Given the description of an element on the screen output the (x, y) to click on. 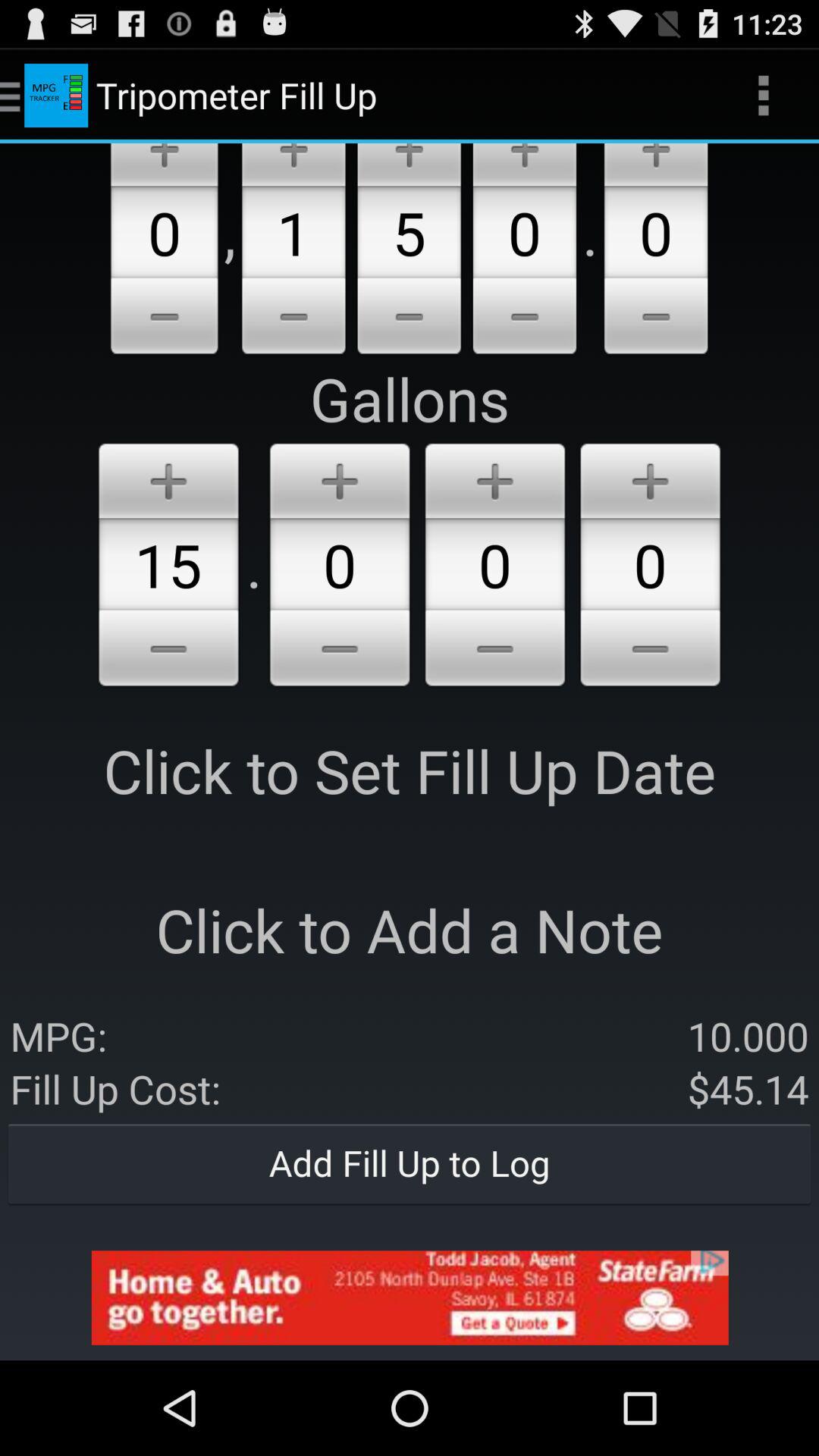
minus the value (408, 318)
